Given the description of an element on the screen output the (x, y) to click on. 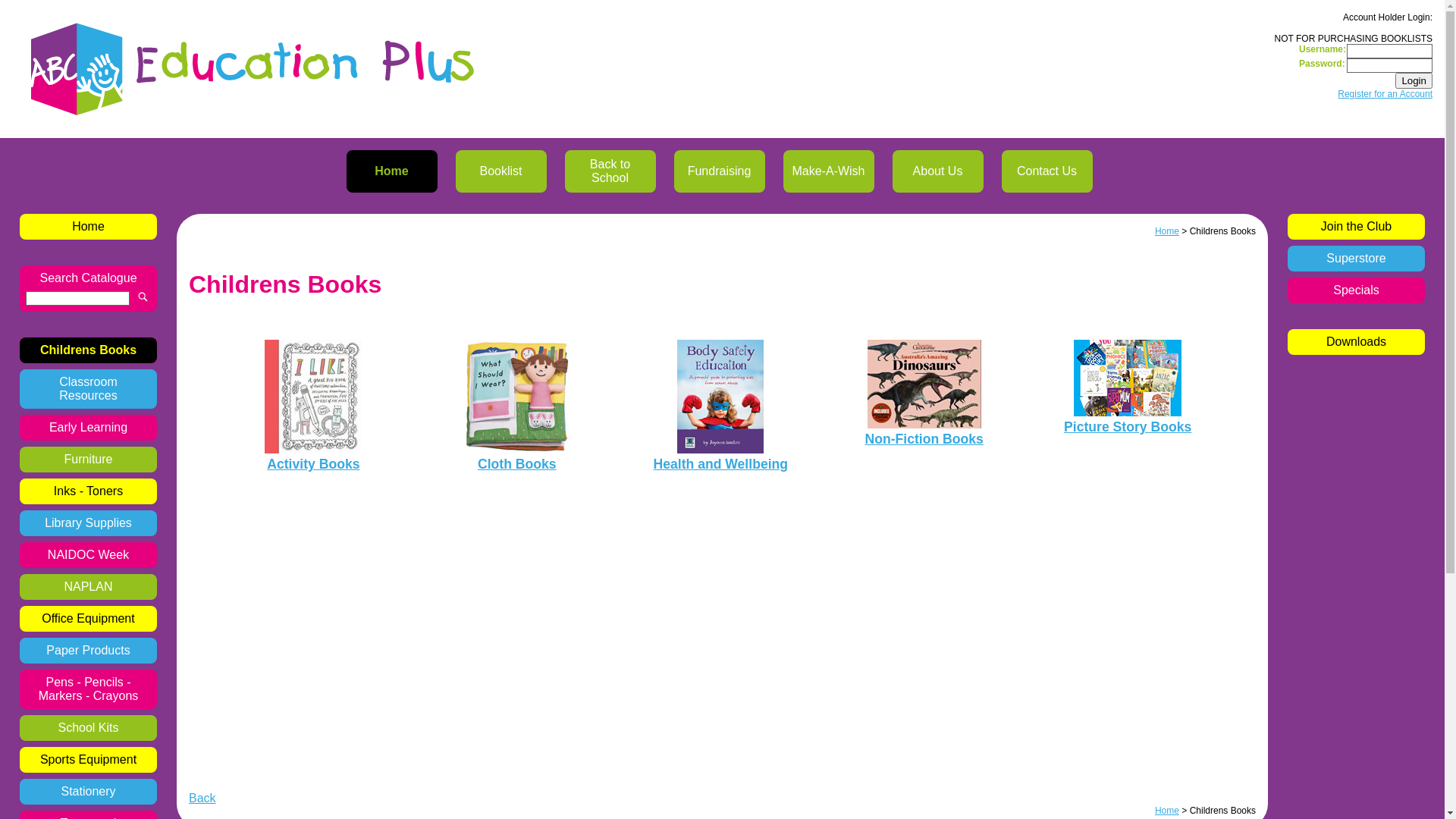
Home Element type: text (1166, 810)
Sports Equipment Element type: text (88, 759)
Register for an Account Element type: text (1384, 93)
Home Element type: text (87, 226)
Join the Club Element type: text (1355, 226)
NAPLAN Element type: text (88, 586)
Back Element type: text (202, 797)
Back to School Element type: text (609, 171)
Fundraising Element type: text (718, 171)
Paper Products Element type: text (88, 650)
Cloth Books Element type: text (516, 463)
Non-Fiction Books Element type: text (924, 438)
Home Element type: text (1166, 230)
NAIDOC Week Element type: text (88, 554)
Specials Element type: text (1356, 290)
Stationery Element type: text (88, 791)
Library Supplies Element type: text (88, 523)
School Kits Element type: text (88, 727)
Furniture Element type: text (88, 459)
Search Catalogue Element type: text (87, 278)
Login Element type: text (1413, 80)
Childrens Books Element type: text (87, 350)
Next Page Element type: text (29, 7)
Superstore Element type: text (1355, 258)
About Us Element type: text (936, 171)
Previous Page Element type: text (39, 7)
Inks - Toners Element type: text (88, 491)
Pens - Pencils - Markers - Crayons Element type: text (88, 689)
Make-A-Wish Element type: text (827, 171)
Picture Story Books Element type: text (1127, 426)
Health and Wellbeing Element type: text (719, 463)
Contact Us Element type: text (1046, 171)
Downloads Element type: text (1355, 341)
Early Learning Element type: text (88, 427)
Classroom Resources Element type: text (88, 388)
Office Equipment Element type: text (88, 618)
Home Element type: text (390, 171)
Activity Books Element type: text (312, 463)
Booklist Element type: text (500, 171)
